Given the description of an element on the screen output the (x, y) to click on. 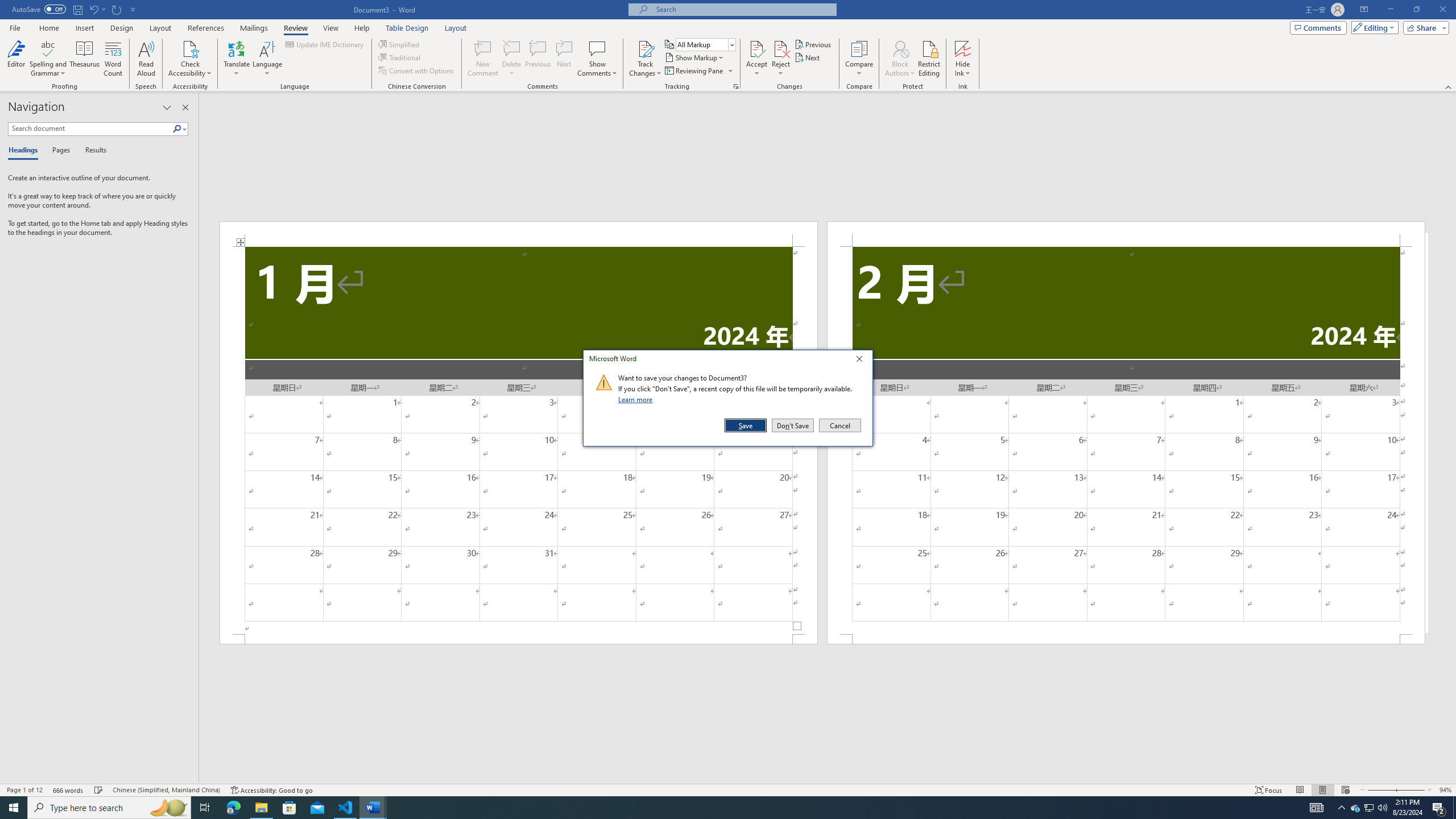
Block Authors (900, 58)
Show Markup (695, 56)
Previous (813, 44)
Language (267, 58)
Show Comments (597, 58)
Check Accessibility (189, 58)
